Given the description of an element on the screen output the (x, y) to click on. 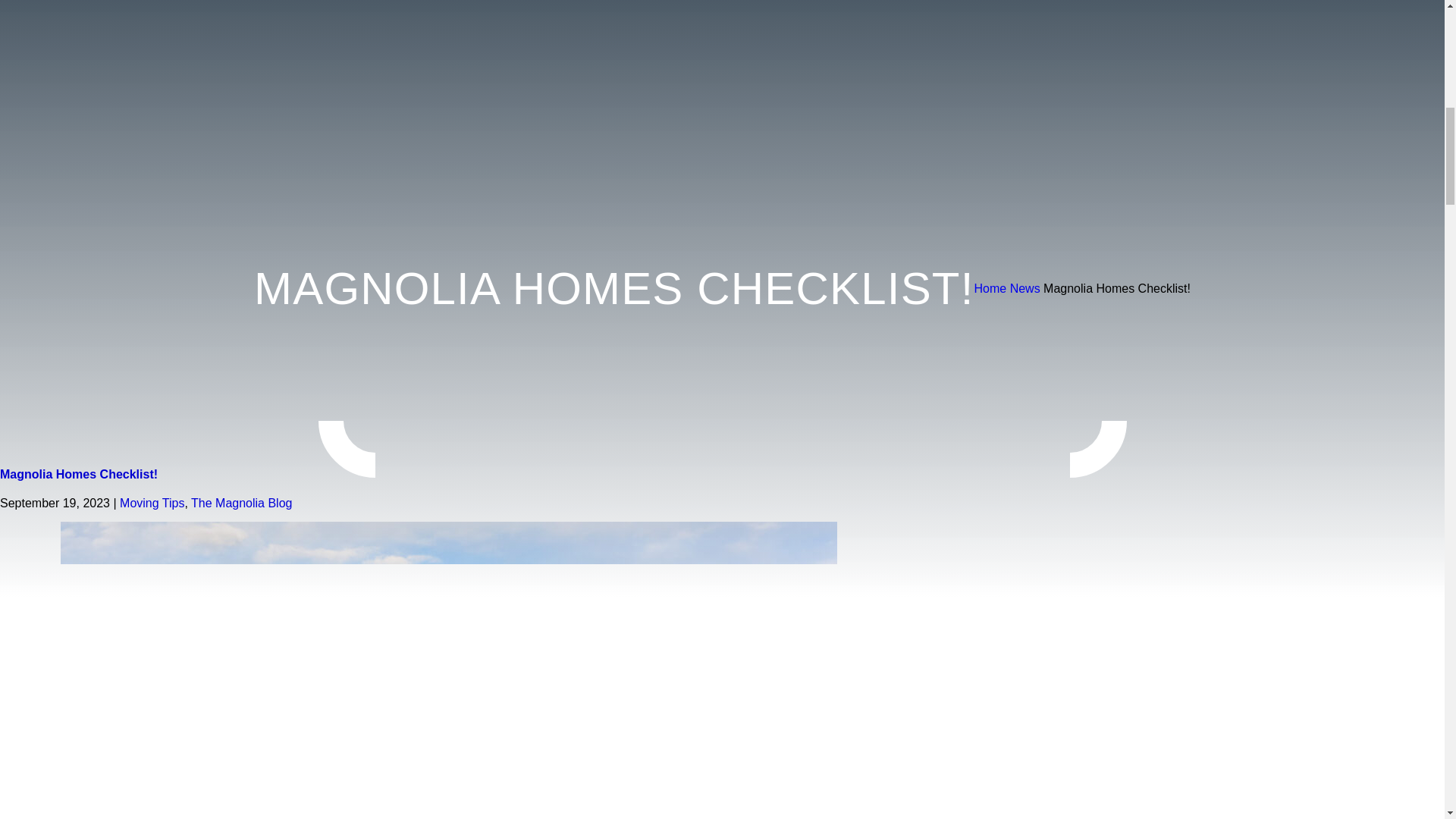
Magnolia Homes Checklist! (78, 473)
The Magnolia Blog (241, 502)
Moving Tips (151, 502)
News (1025, 287)
Home (990, 287)
